Given the description of an element on the screen output the (x, y) to click on. 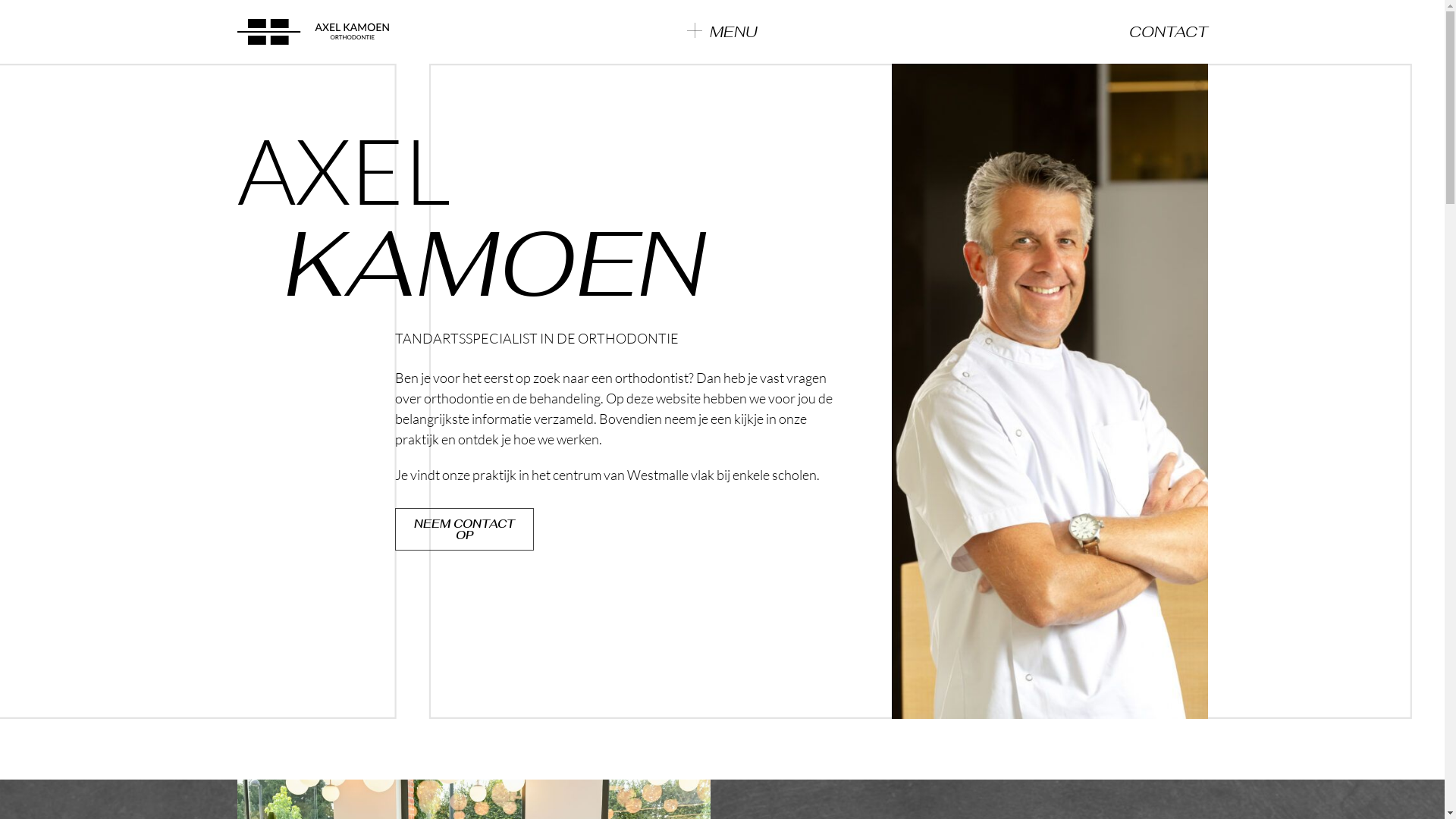
MENU Element type: text (722, 31)
CONTACT Element type: text (1167, 31)
NEEM CONTACT
OP Element type: text (464, 529)
